Given the description of an element on the screen output the (x, y) to click on. 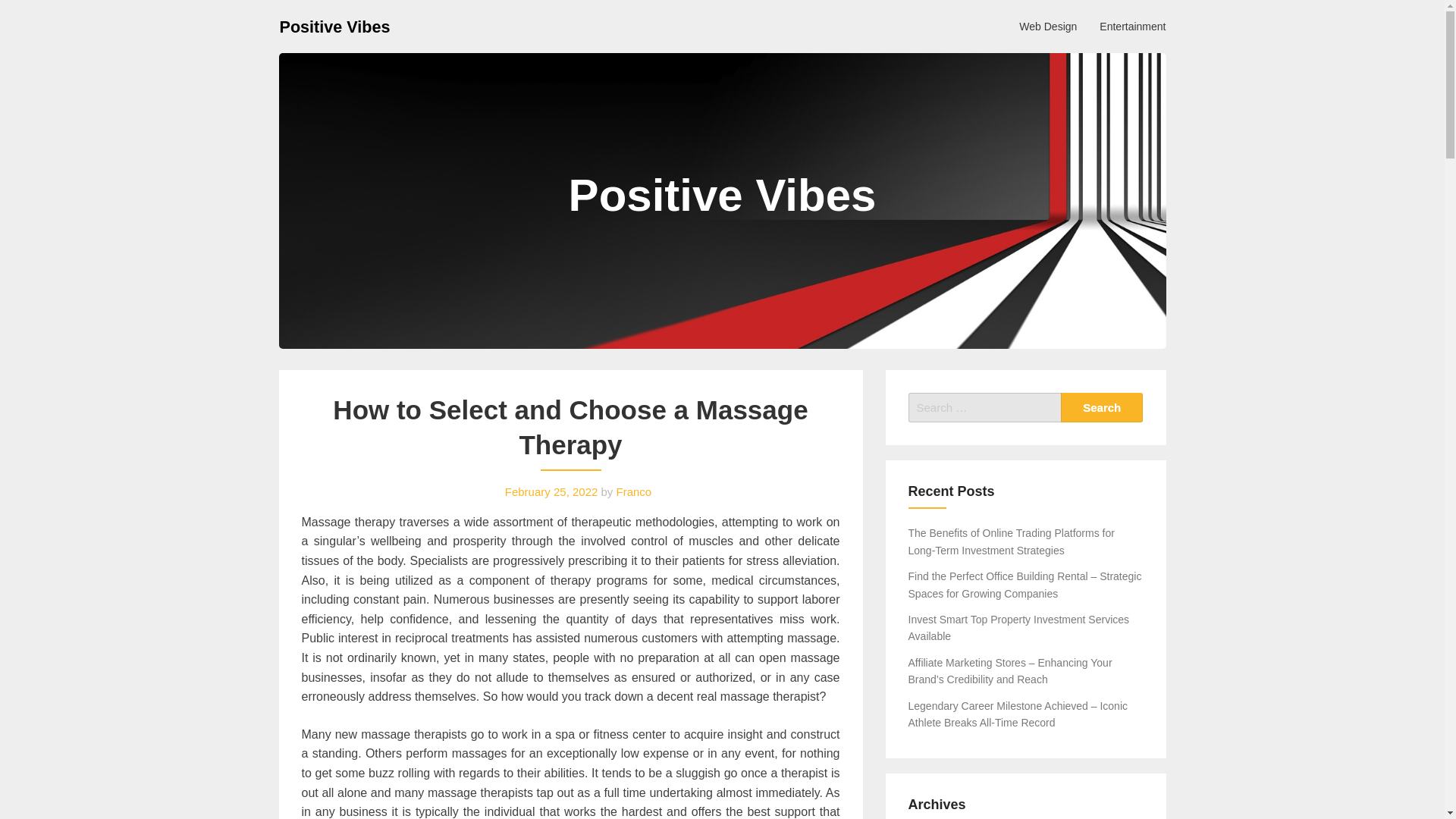
Search (1101, 407)
Web Design (1047, 26)
February 25, 2022 (551, 491)
Invest Smart Top Property Investment Services Available (1018, 627)
Search (1101, 407)
Search (1101, 407)
Positive Vibes (334, 26)
Entertainment (1131, 26)
